Given the description of an element on the screen output the (x, y) to click on. 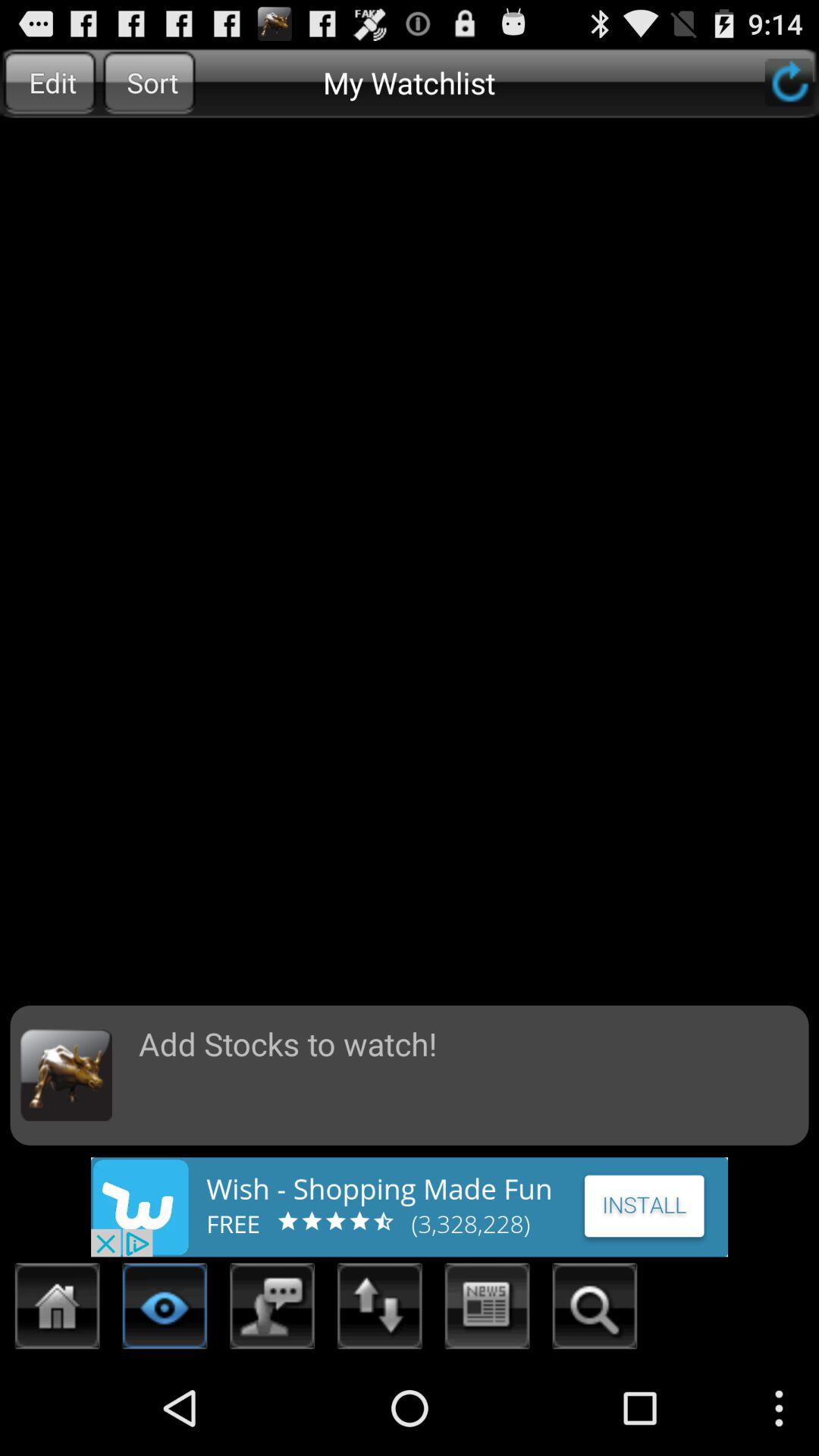
go to search (594, 1310)
